Given the description of an element on the screen output the (x, y) to click on. 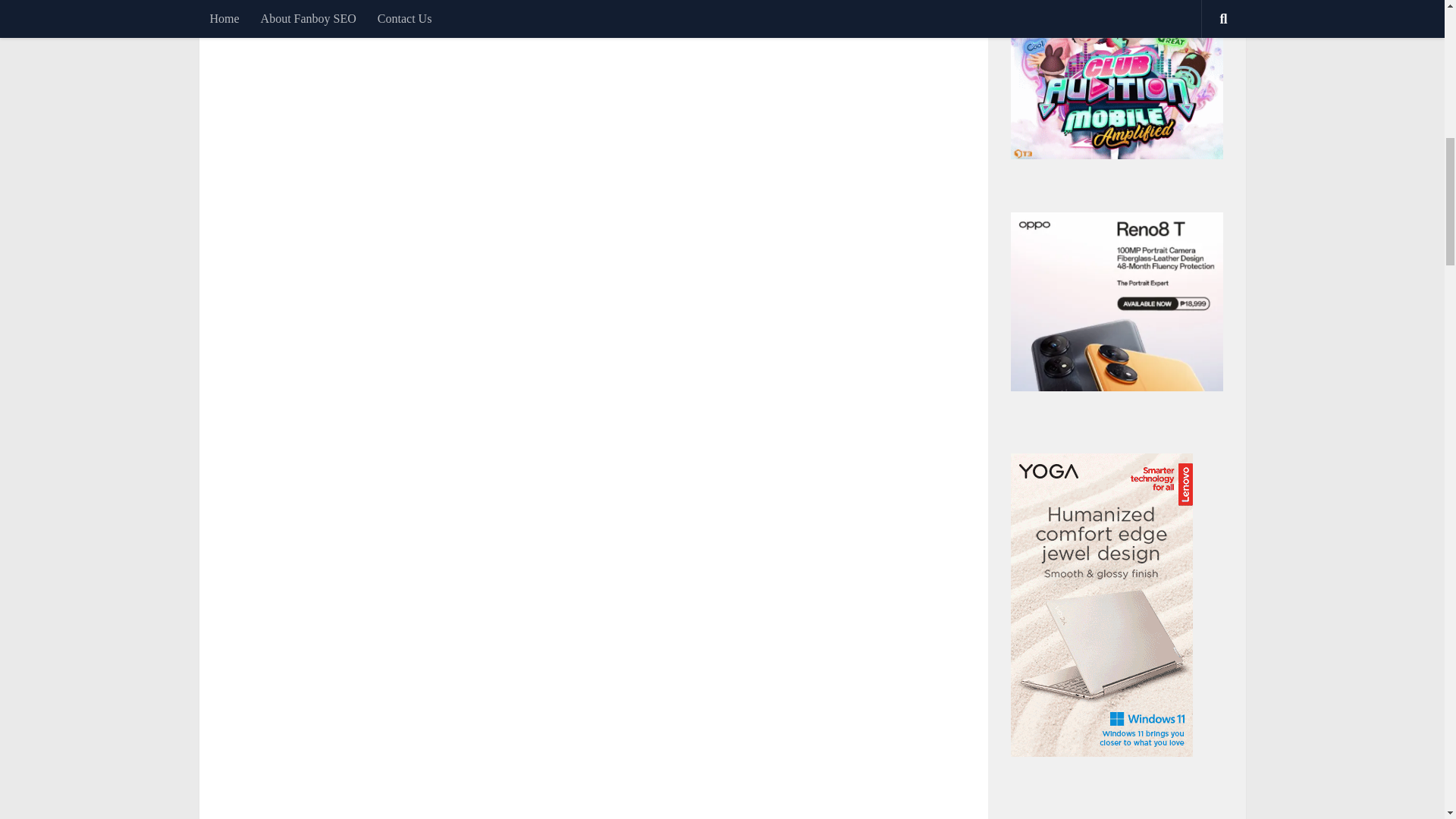
Lenovo (1101, 752)
